Given the description of an element on the screen output the (x, y) to click on. 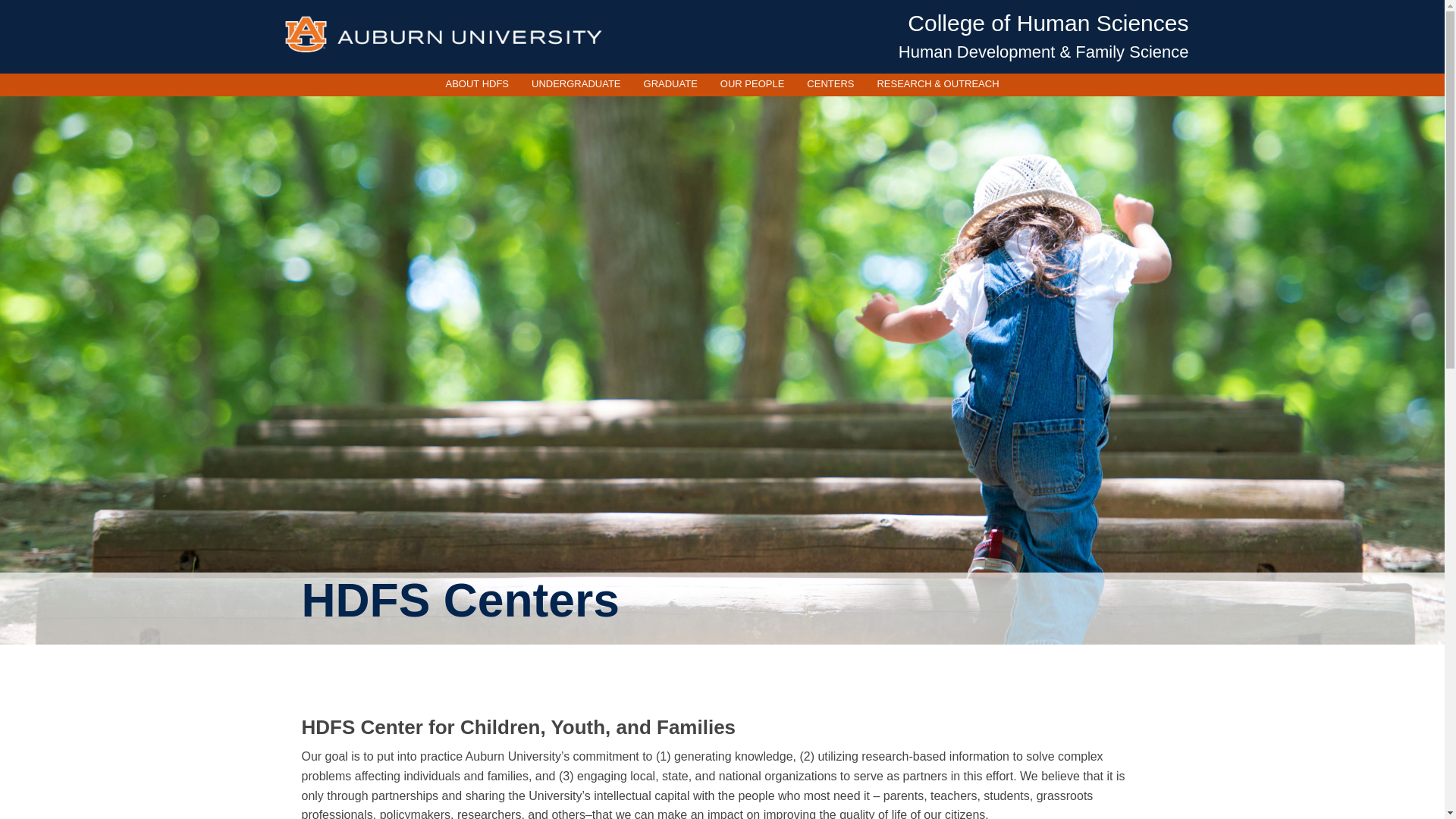
College of Human Sciences Website (1047, 23)
UNDERGRADUATE (575, 83)
OUR PEOPLE (752, 83)
GRADUATE (670, 83)
ABOUT HDFS (476, 83)
CENTERS (829, 83)
College of Human Sciences (1047, 23)
Hospitality Management Program Website (1043, 51)
